Given the description of an element on the screen output the (x, y) to click on. 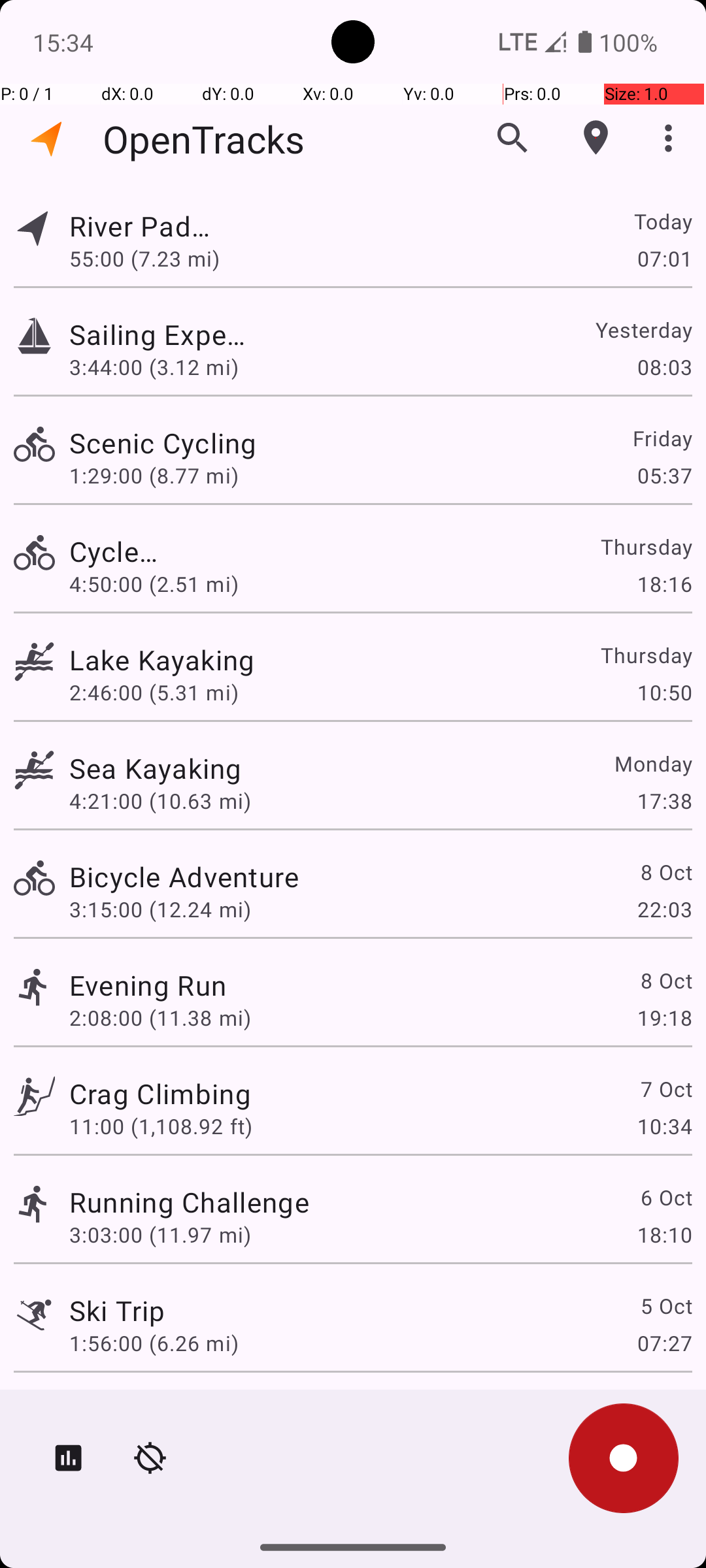
River Paddle Element type: android.widget.TextView (147, 225)
55:00 (7.23 mi) Element type: android.widget.TextView (159, 258)
07:01 Element type: android.widget.TextView (664, 258)
Sailing Expedition Element type: android.widget.TextView (159, 333)
3:44:00 (3.12 mi) Element type: android.widget.TextView (160, 366)
08:03 Element type: android.widget.TextView (664, 366)
Scenic Cycling Element type: android.widget.TextView (188, 442)
1:29:00 (8.77 mi) Element type: android.widget.TextView (159, 475)
05:37 Element type: android.widget.TextView (664, 475)
Cycle Trip Element type: android.widget.TextView (116, 550)
4:50:00 (2.51 mi) Element type: android.widget.TextView (153, 583)
18:16 Element type: android.widget.TextView (664, 583)
Lake Kayaking Element type: android.widget.TextView (190, 659)
2:46:00 (5.31 mi) Element type: android.widget.TextView (159, 692)
10:50 Element type: android.widget.TextView (664, 692)
Sea Kayaking Element type: android.widget.TextView (155, 767)
4:21:00 (10.63 mi) Element type: android.widget.TextView (159, 800)
17:38 Element type: android.widget.TextView (664, 800)
Bicycle Adventure Element type: android.widget.TextView (183, 876)
3:15:00 (12.24 mi) Element type: android.widget.TextView (159, 909)
22:03 Element type: android.widget.TextView (664, 909)
Evening Run Element type: android.widget.TextView (147, 984)
2:08:00 (11.38 mi) Element type: android.widget.TextView (159, 1017)
19:18 Element type: android.widget.TextView (664, 1017)
Crag Climbing Element type: android.widget.TextView (159, 1092)
11:00 (1,108.92 ft) Element type: android.widget.TextView (160, 1125)
10:34 Element type: android.widget.TextView (664, 1125)
Running Challenge Element type: android.widget.TextView (188, 1201)
6 Oct Element type: android.widget.TextView (665, 1197)
3:03:00 (11.97 mi) Element type: android.widget.TextView (159, 1234)
18:10 Element type: android.widget.TextView (664, 1234)
Ski Trip Element type: android.widget.TextView (116, 1309)
5 Oct Element type: android.widget.TextView (665, 1305)
1:56:00 (6.26 mi) Element type: android.widget.TextView (153, 1342)
07:27 Element type: android.widget.TextView (664, 1342)
Running Adventure Element type: android.widget.TextView (190, 1408)
